Given the description of an element on the screen output the (x, y) to click on. 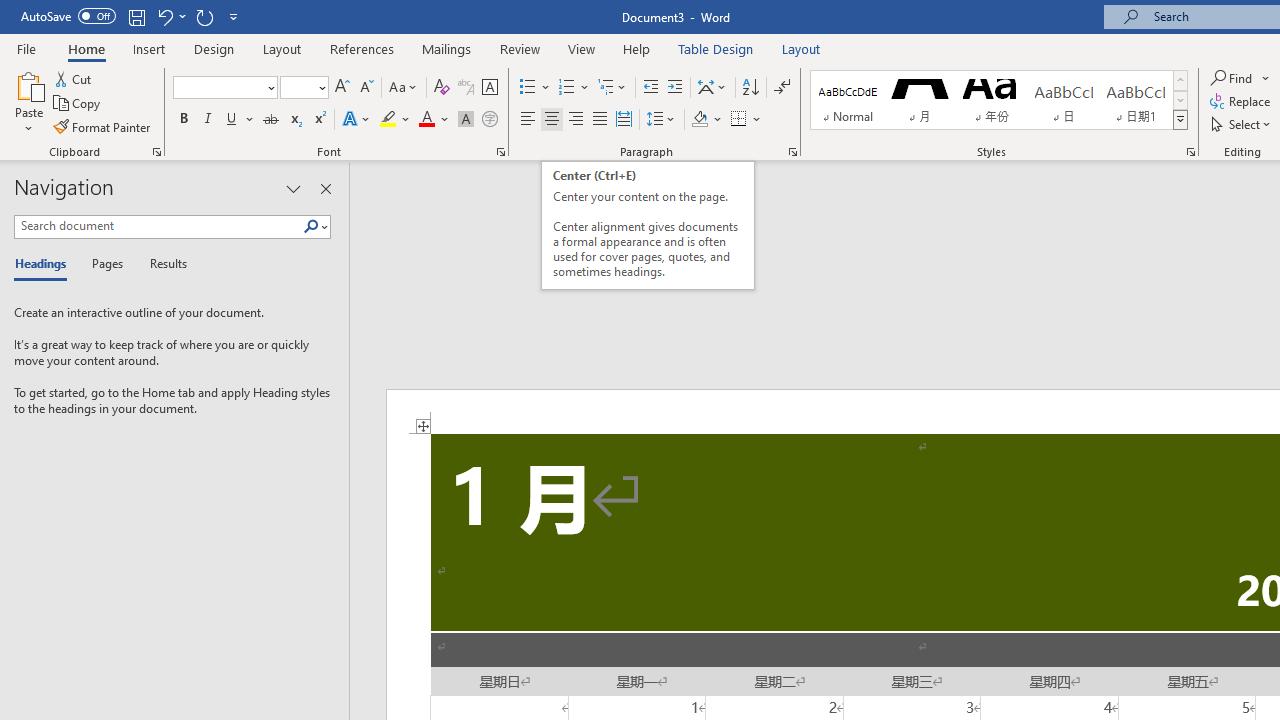
Format Painter (103, 126)
Undo Apply Quick Style (170, 15)
Phonetic Guide... (465, 87)
Align Left (527, 119)
Multilevel List (613, 87)
Row up (1179, 79)
Center (552, 119)
